Given the description of an element on the screen output the (x, y) to click on. 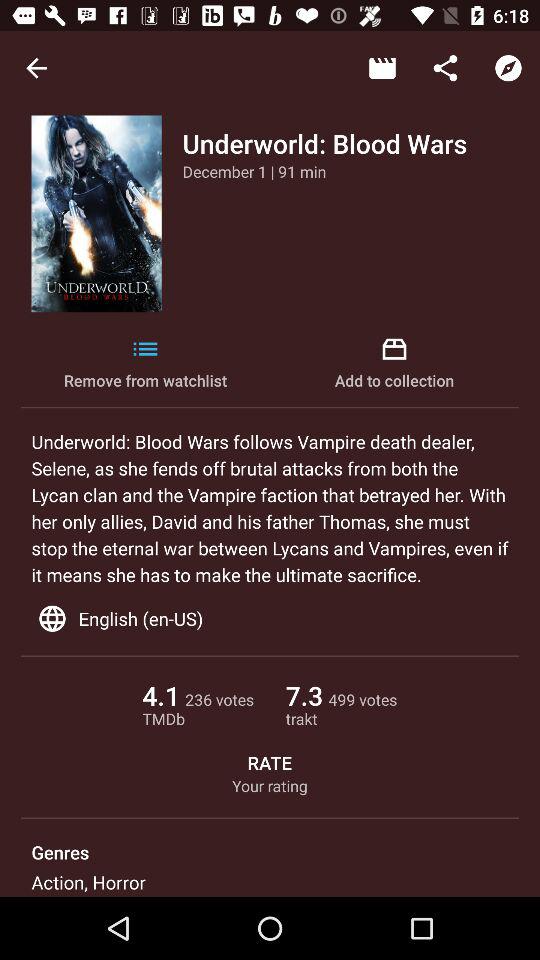
click icon below the genres item (88, 882)
